Given the description of an element on the screen output the (x, y) to click on. 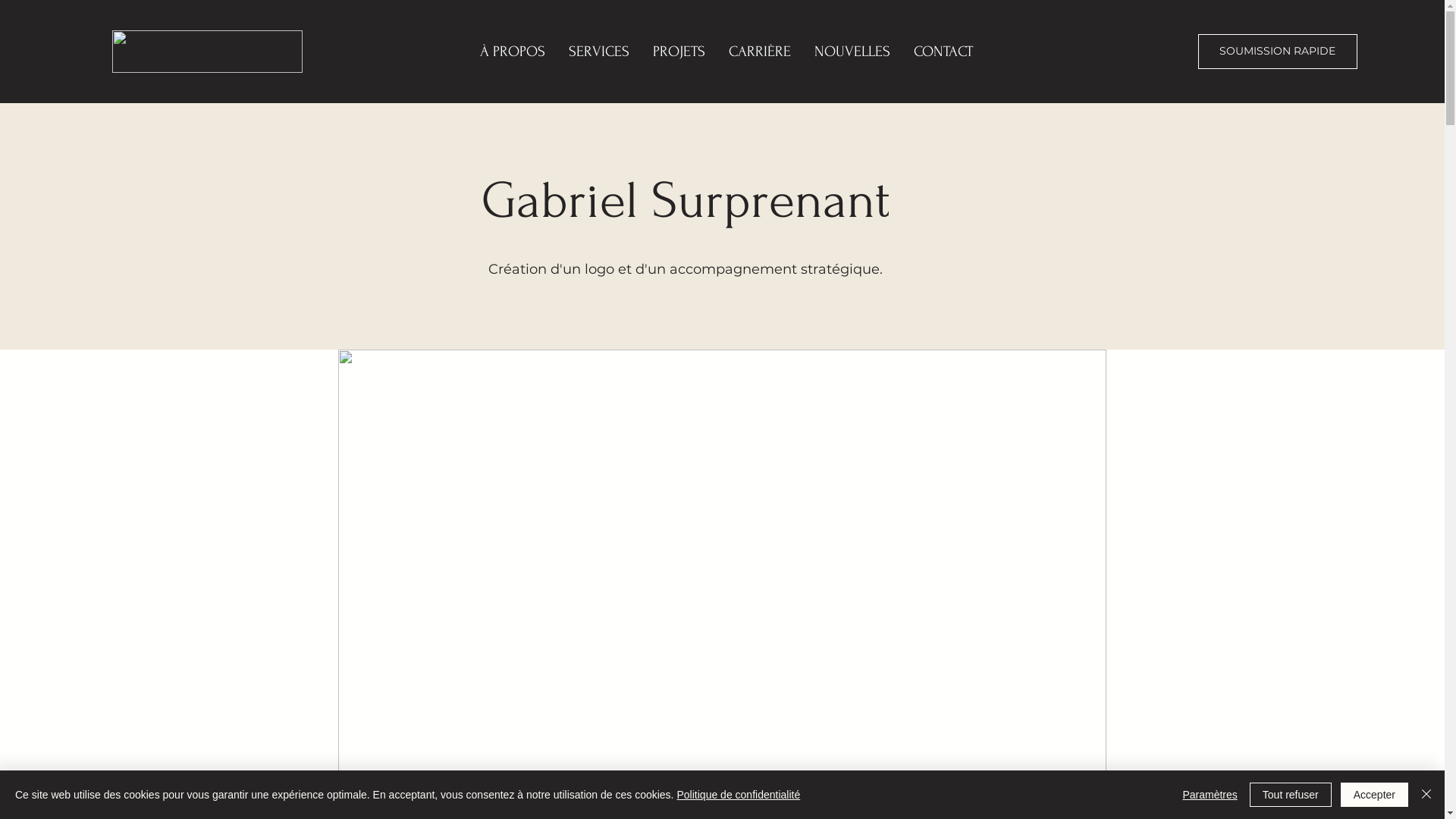
SERVICES Element type: text (598, 51)
NOUVELLES Element type: text (851, 51)
Tout refuser Element type: text (1290, 794)
Accepter Element type: text (1374, 794)
SOUMISSION RAPIDE Element type: text (1277, 51)
CONTACT Element type: text (942, 51)
PROJETS Element type: text (678, 51)
